Given the description of an element on the screen output the (x, y) to click on. 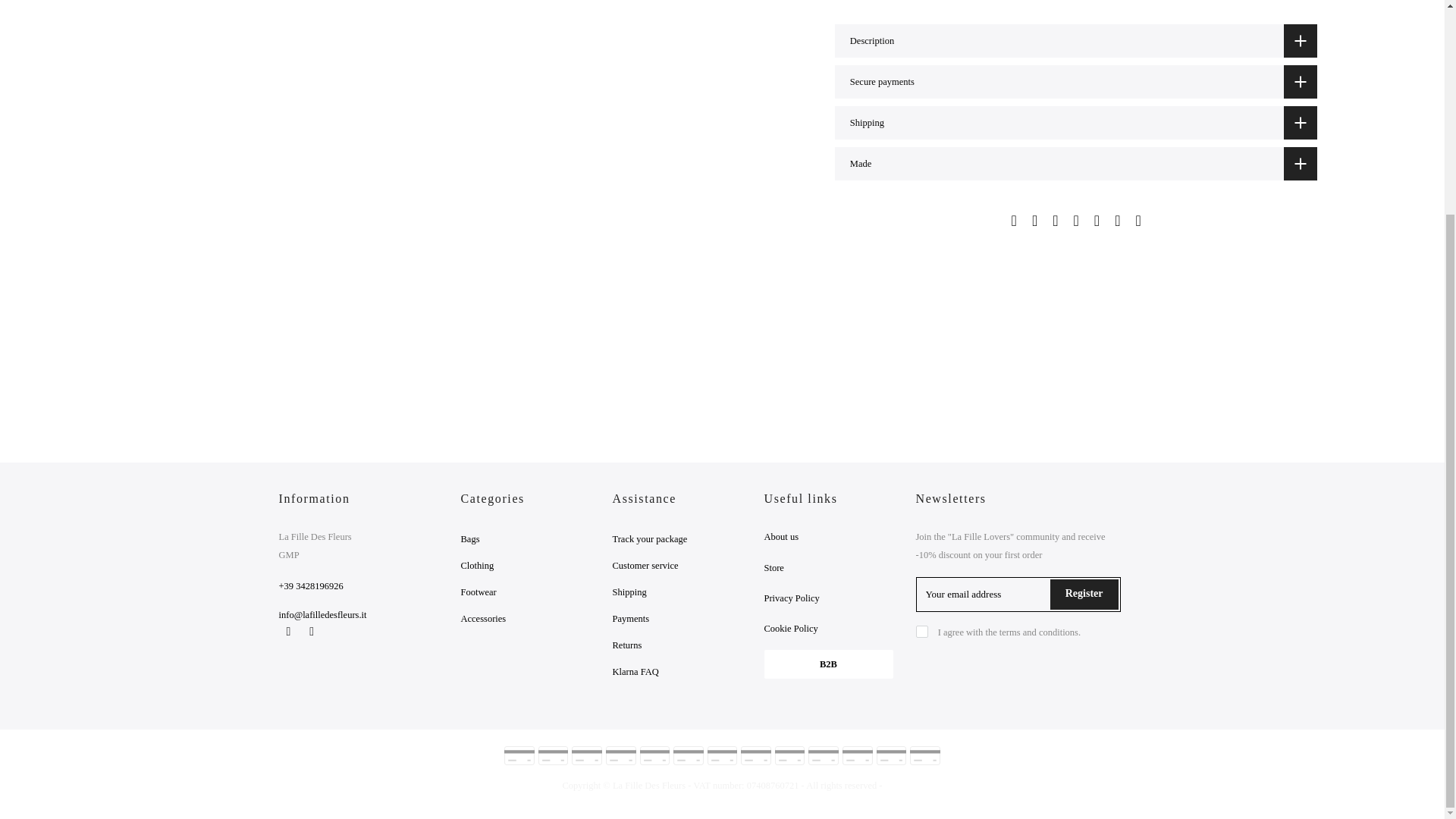
Secure payments (1075, 81)
Description (1075, 40)
Made (1075, 163)
Shipping (1075, 122)
